Given the description of an element on the screen output the (x, y) to click on. 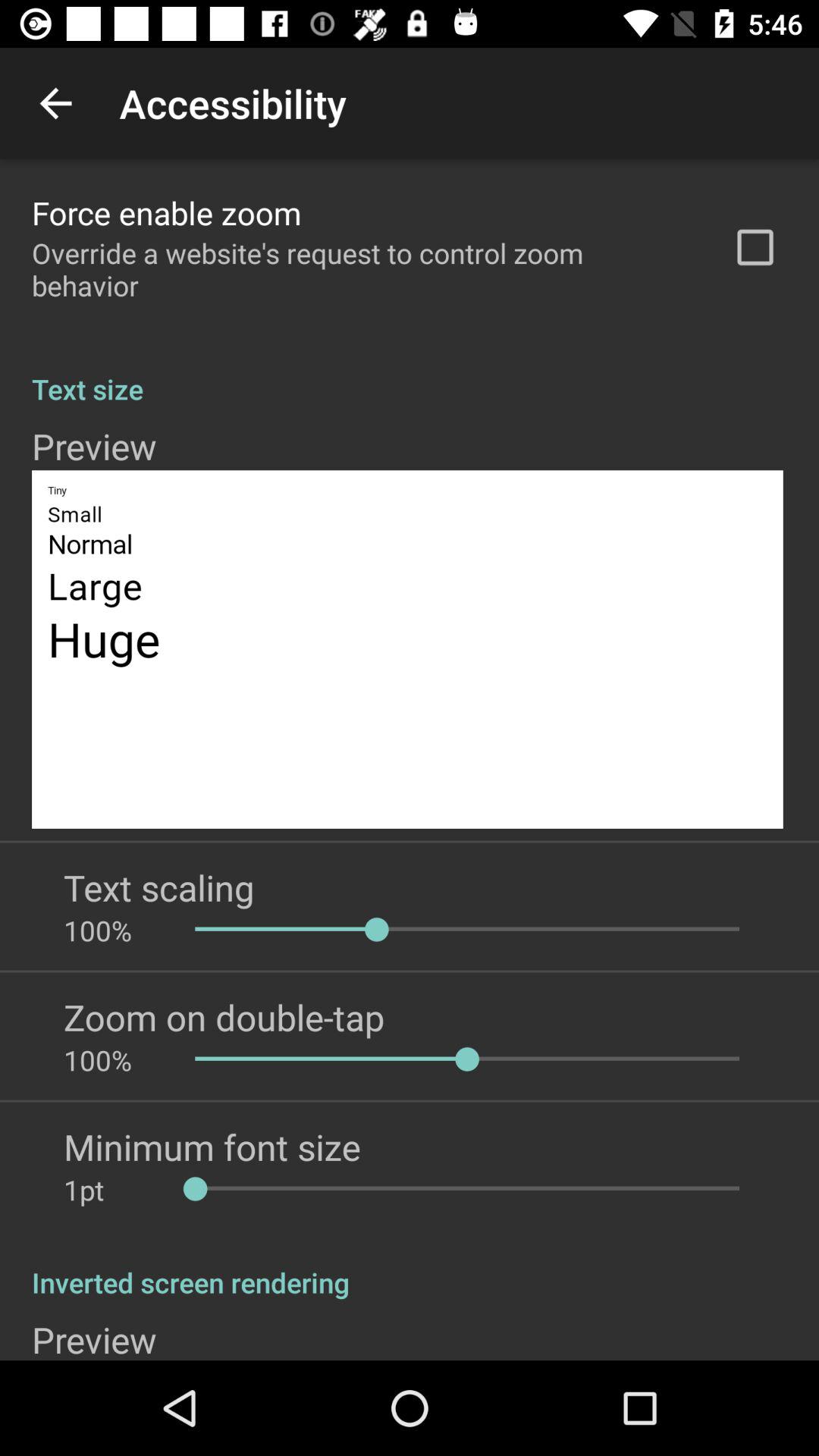
click the icon at the top right corner (755, 247)
